Given the description of an element on the screen output the (x, y) to click on. 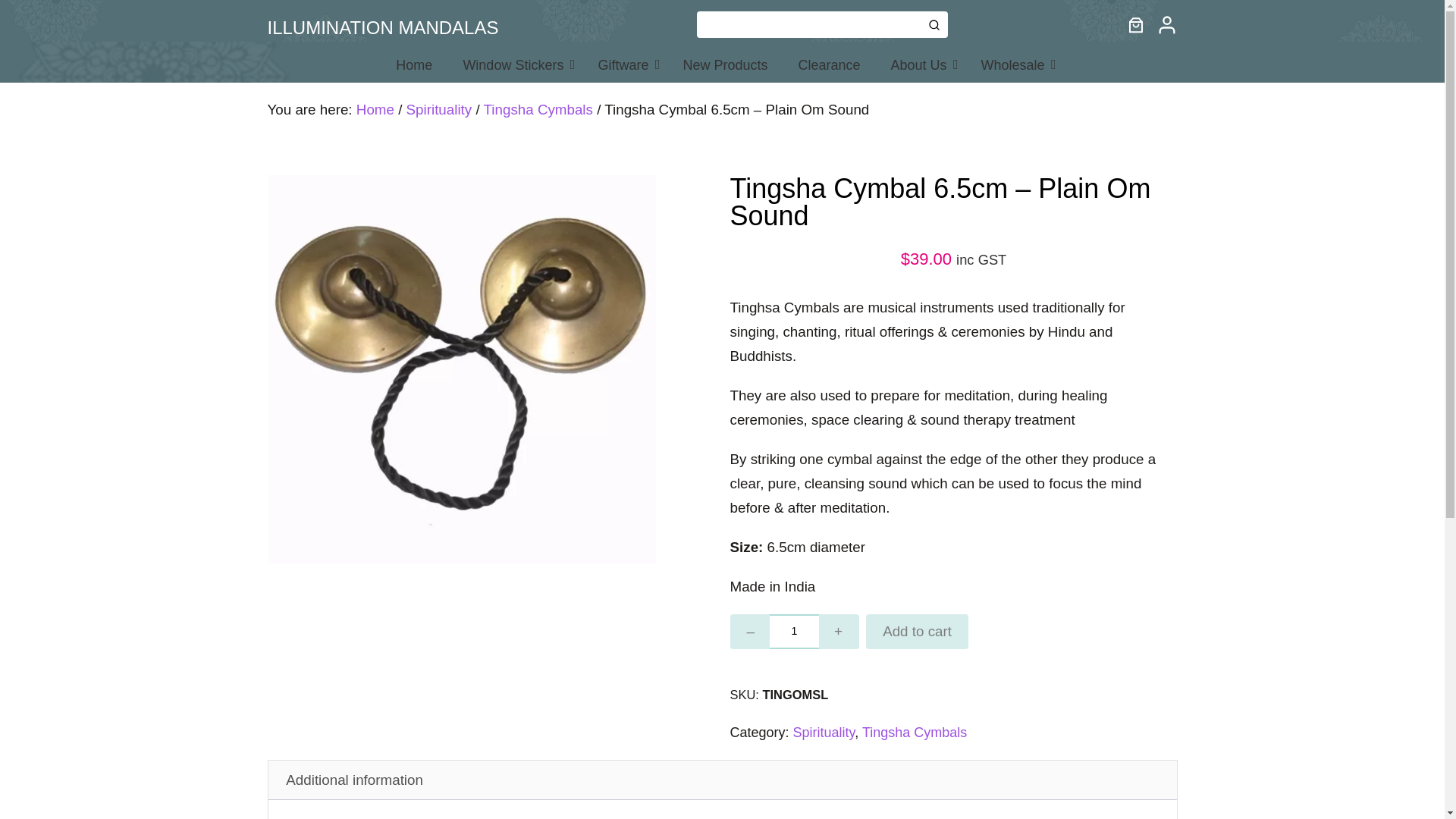
New Products (724, 61)
Clearance (829, 61)
Home (413, 61)
Wholesale (1015, 61)
1 (794, 631)
ILLUMINATION MANDALAS (381, 26)
About Us (921, 61)
Window Stickers (514, 61)
